Given the description of an element on the screen output the (x, y) to click on. 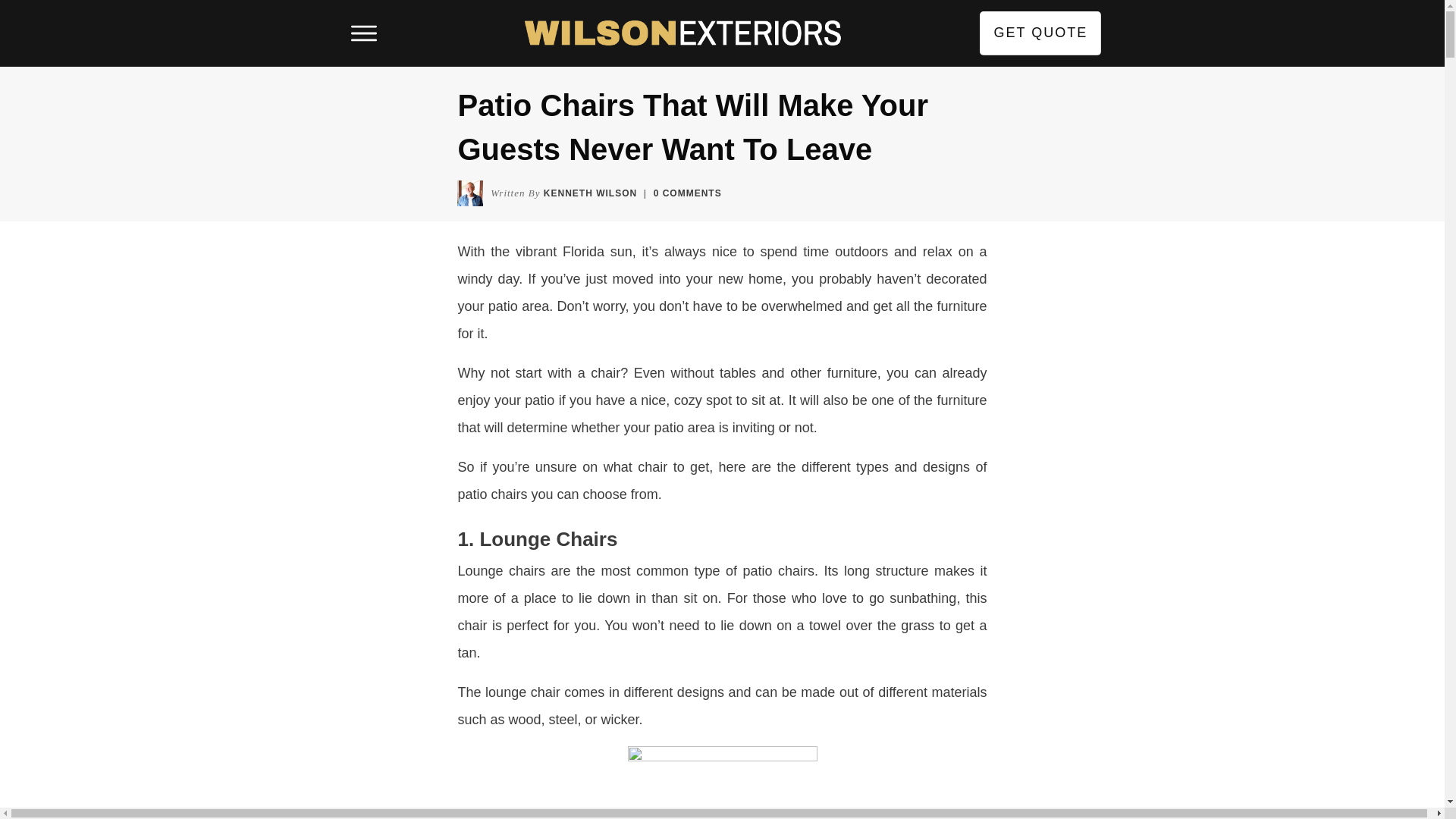
0 COMMENTS (687, 193)
Kenneth Wilson (590, 193)
GET QUOTE (1039, 33)
undefined (469, 193)
KENNETH WILSON (590, 193)
